Given the description of an element on the screen output the (x, y) to click on. 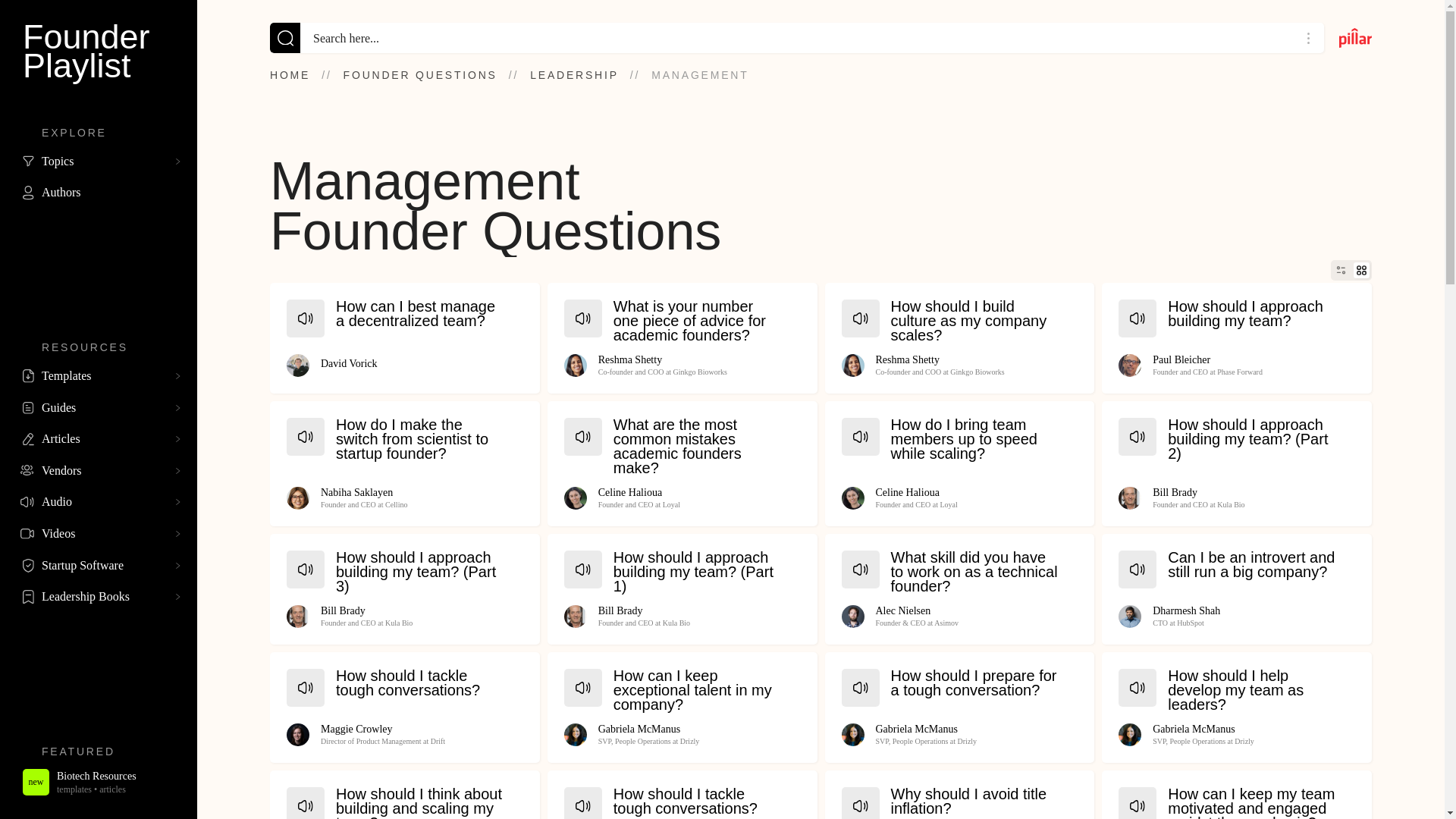
Guides (98, 408)
Topics (98, 161)
Authors (98, 192)
Templates (98, 376)
Articles (98, 439)
Founder Playlist (98, 51)
